Given the description of an element on the screen output the (x, y) to click on. 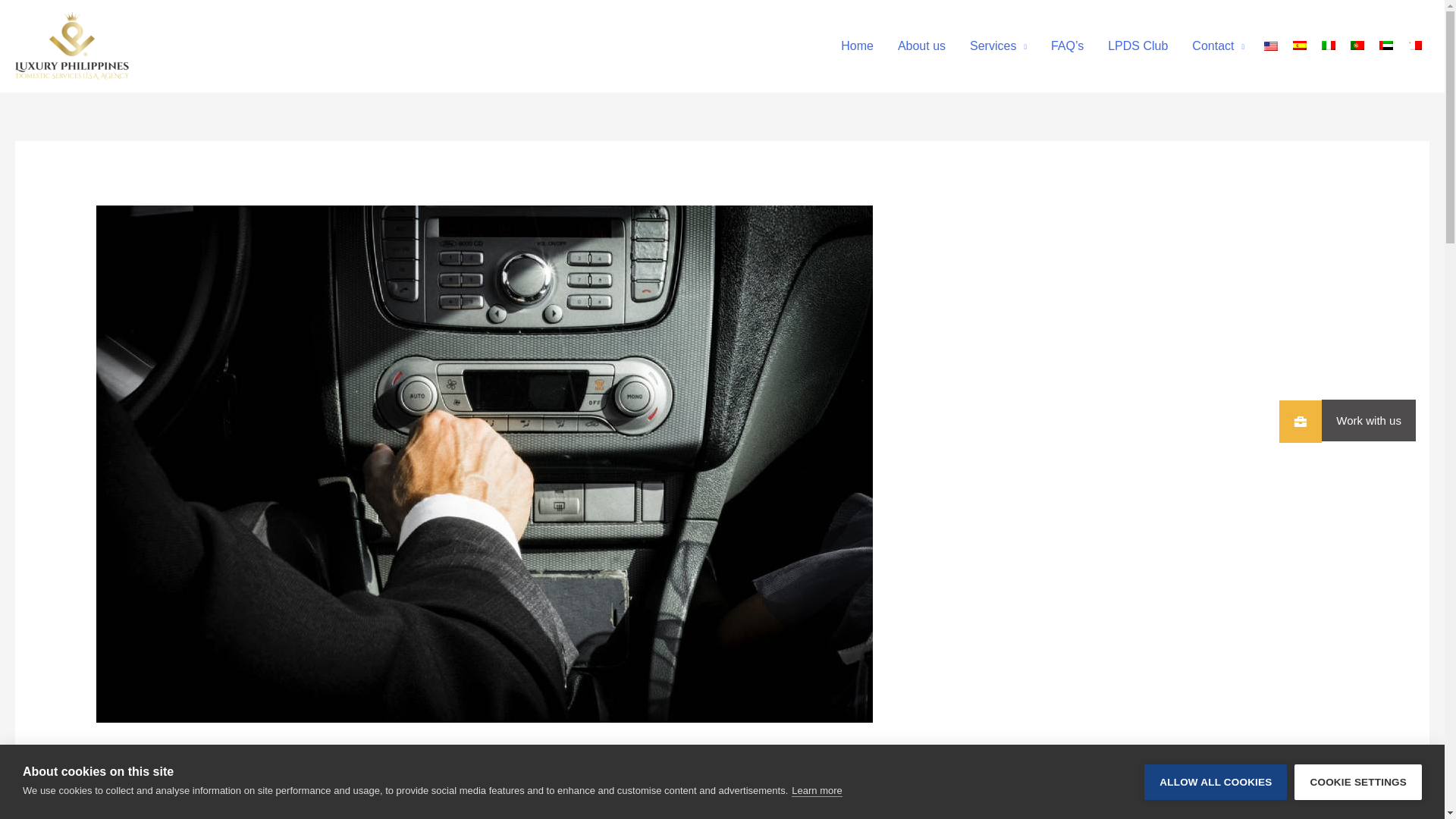
LPDS Club (1137, 45)
COOKIE SETTINGS (1358, 807)
ALLOW ALL COOKIES (1215, 811)
About us (921, 45)
Contact (1217, 45)
Services (998, 45)
Home (856, 45)
View all posts by LPDS Agency (197, 788)
